Given the description of an element on the screen output the (x, y) to click on. 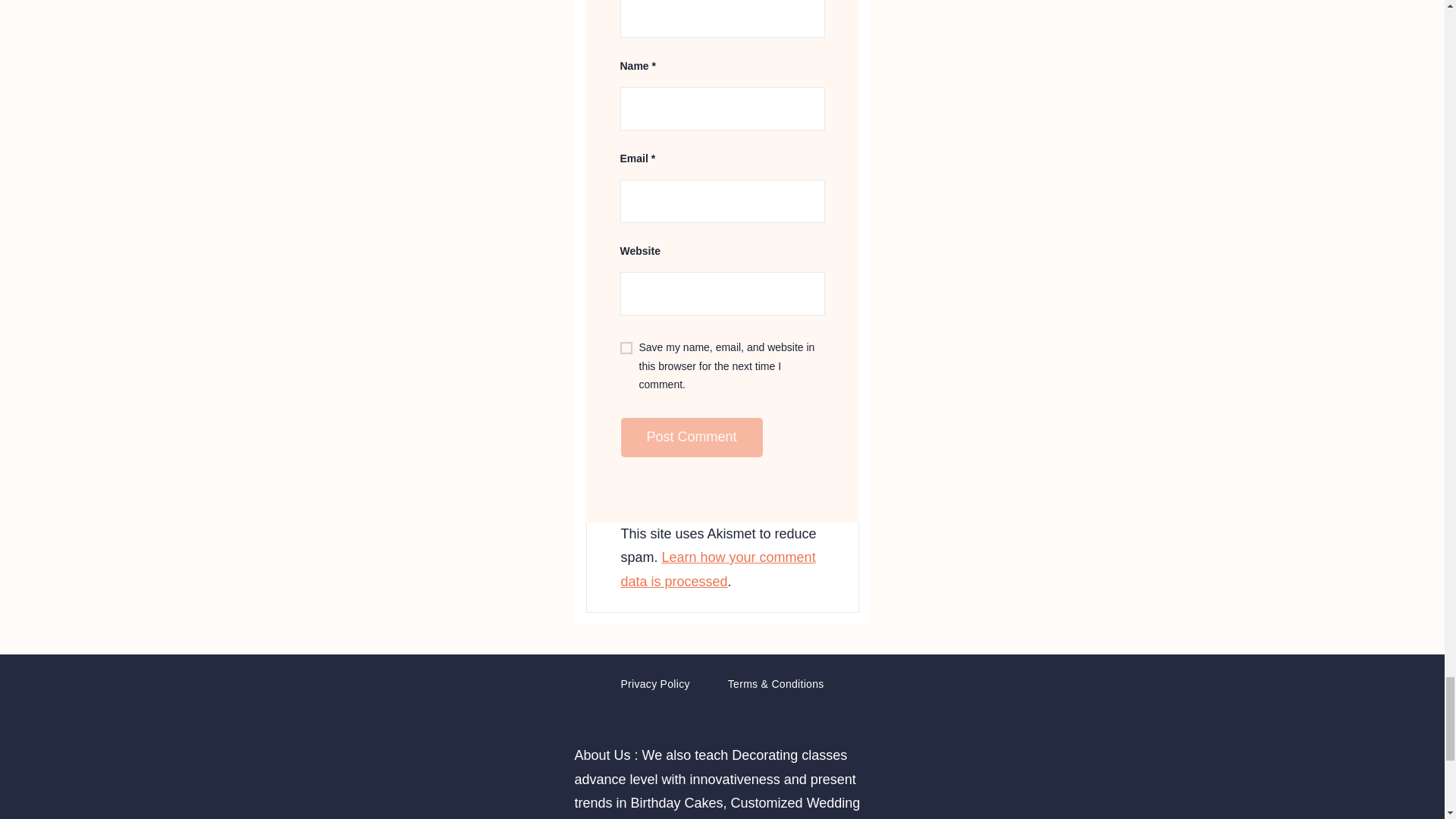
Post Comment (691, 436)
